Given the description of an element on the screen output the (x, y) to click on. 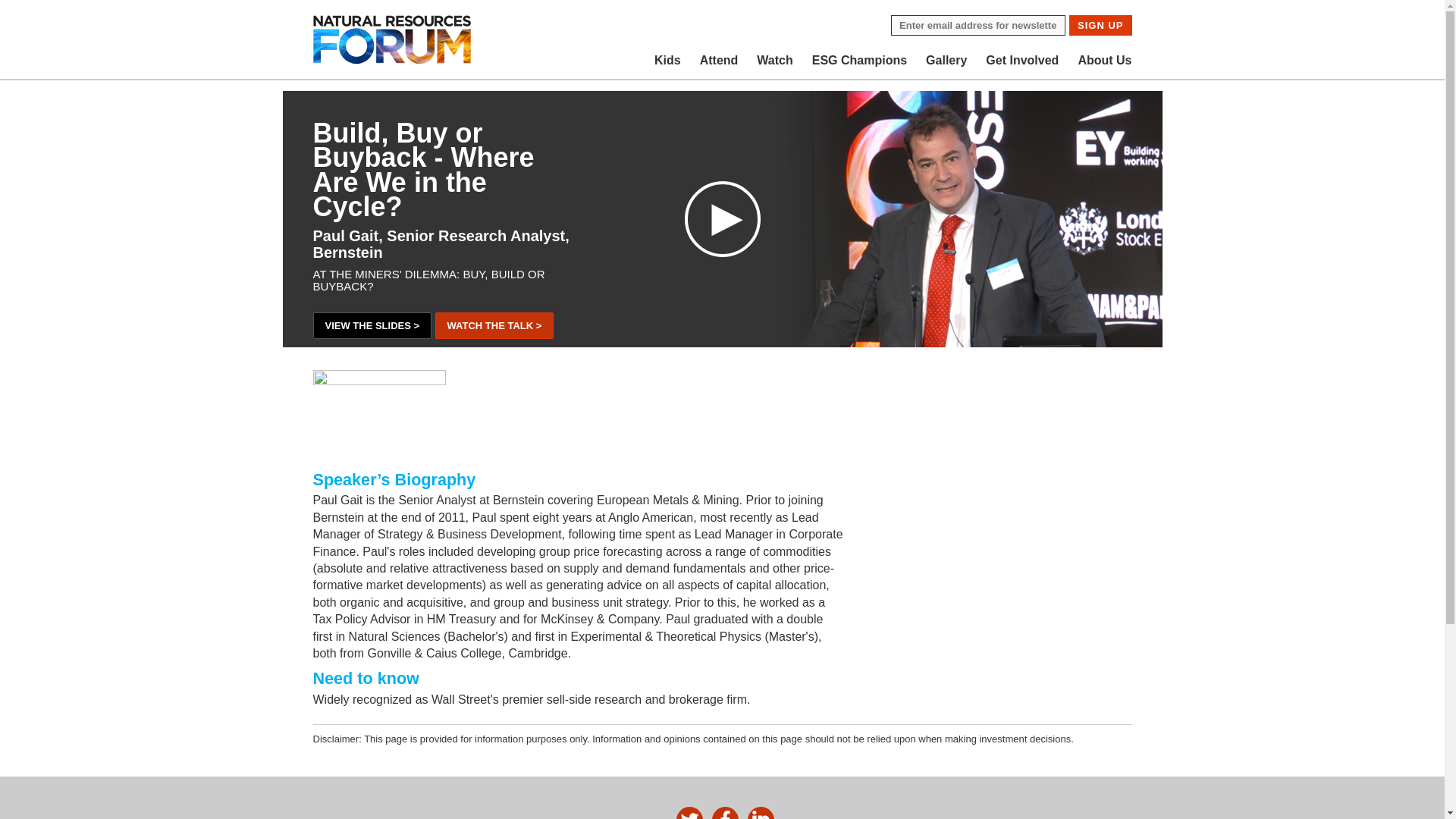
About Us (1104, 60)
About Us (1104, 60)
ESG Champions (859, 60)
SIGN UP (1099, 25)
Gallery (946, 60)
Watch (774, 60)
Natural Resources Forum (392, 39)
Twitter (690, 812)
ESG Champions (859, 60)
SIGN UP (1099, 25)
Get Involved (1021, 60)
Kids (667, 60)
Gallery (946, 60)
LinkedIn (761, 812)
Natural Resources Forum (392, 39)
